Given the description of an element on the screen output the (x, y) to click on. 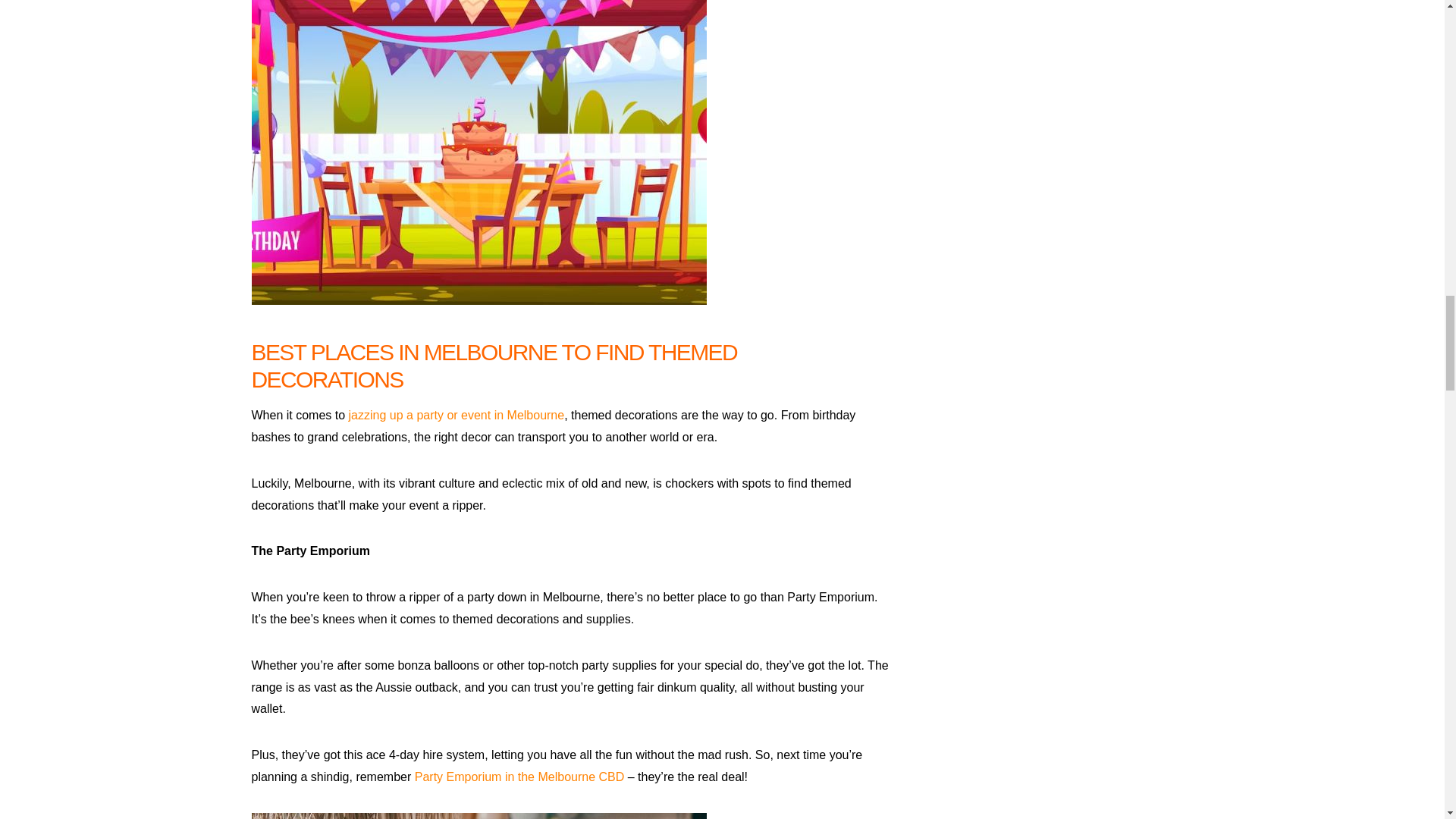
jazzing up a party or event in Melbourne (456, 414)
Party Emporium in the Melbourne CBD (519, 776)
